Given the description of an element on the screen output the (x, y) to click on. 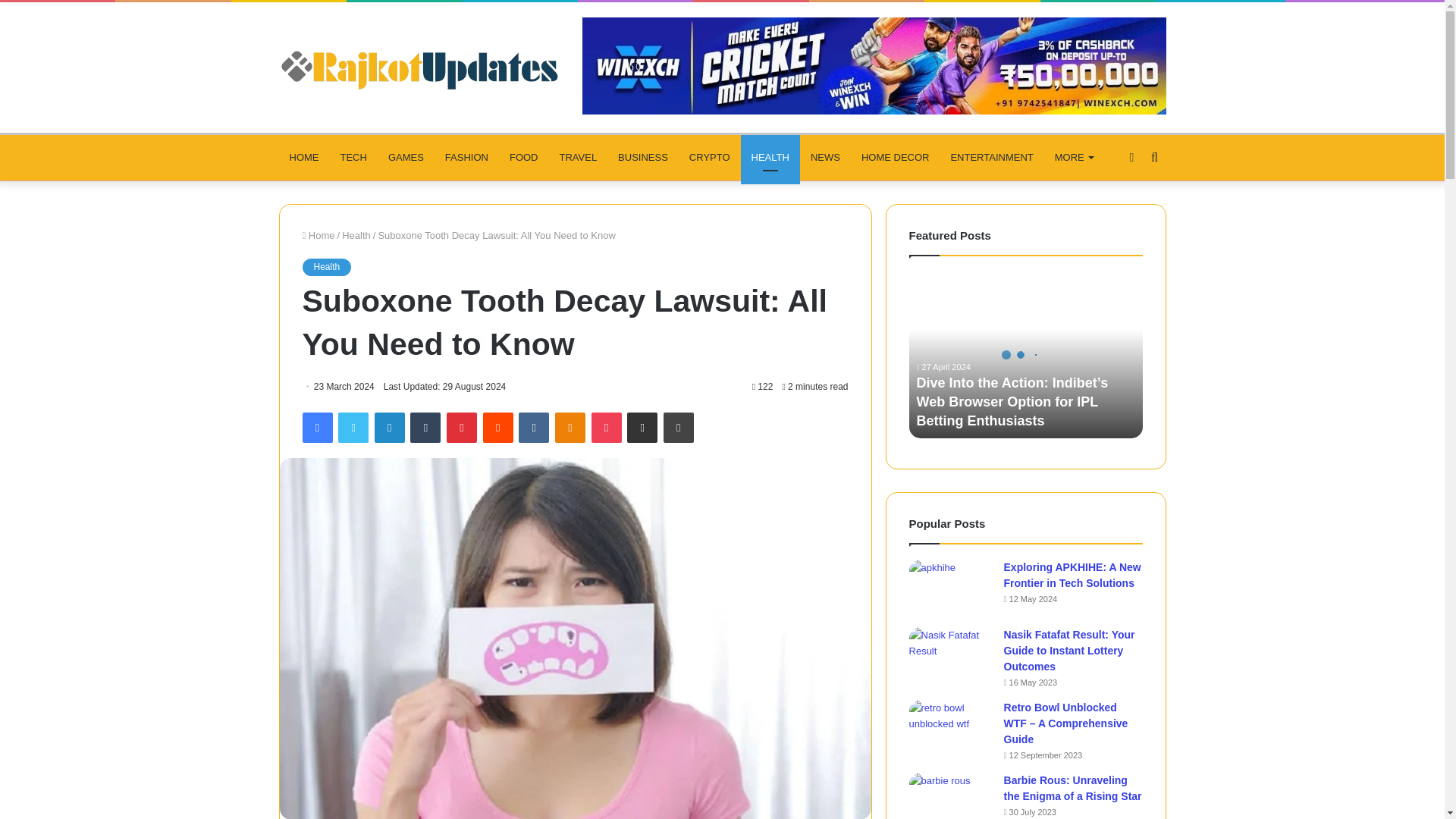
VKontakte (533, 427)
Facebook (316, 427)
Pinterest (461, 427)
TRAVEL (578, 157)
Pinterest (461, 427)
Facebook (316, 427)
Share via Email (642, 427)
ENTERTAINMENT (991, 157)
LinkedIn (389, 427)
Pocket (606, 427)
